Given the description of an element on the screen output the (x, y) to click on. 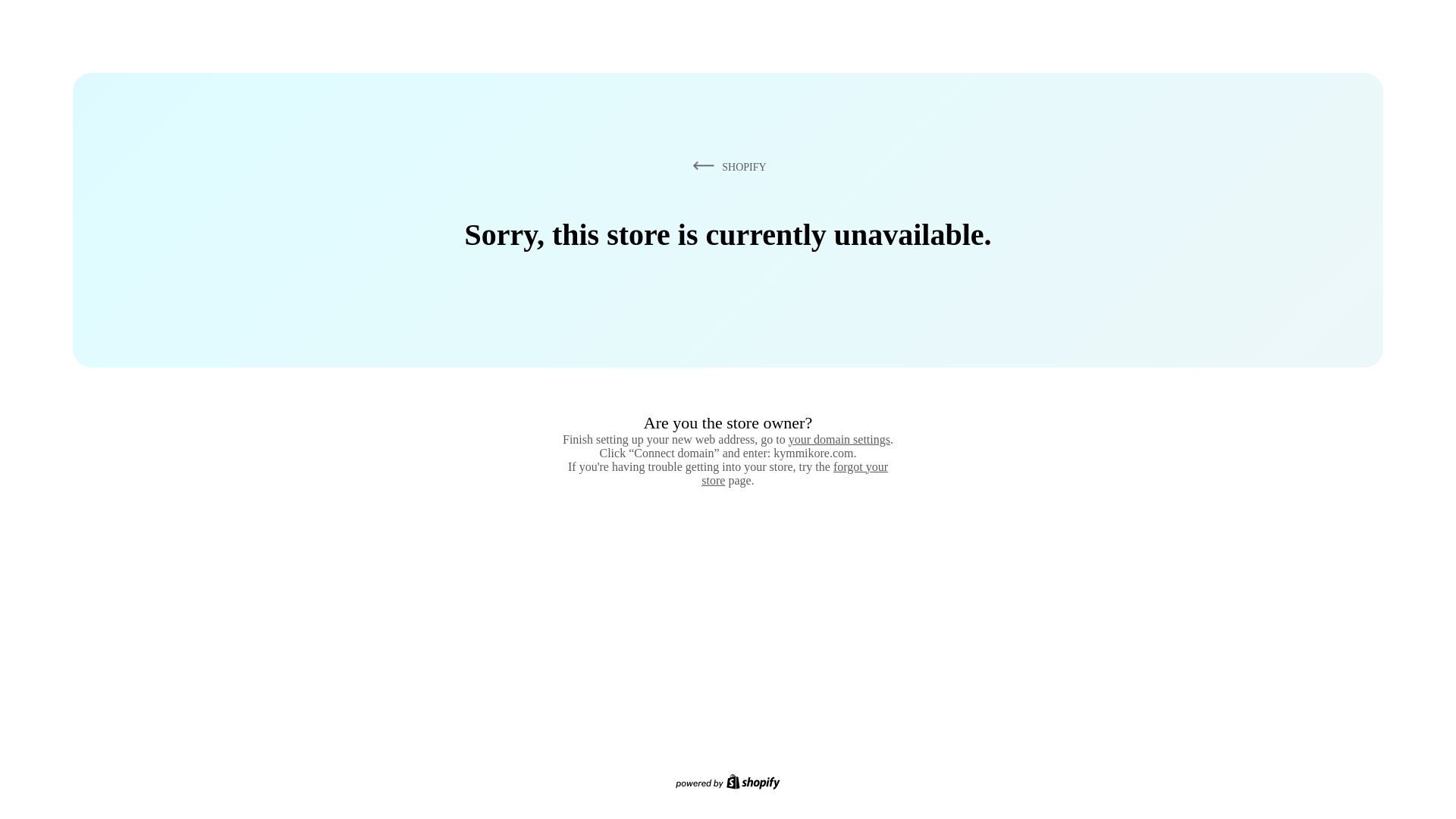
forgot your store (794, 473)
your domain settings (839, 439)
SHOPIFY (726, 166)
